Given the description of an element on the screen output the (x, y) to click on. 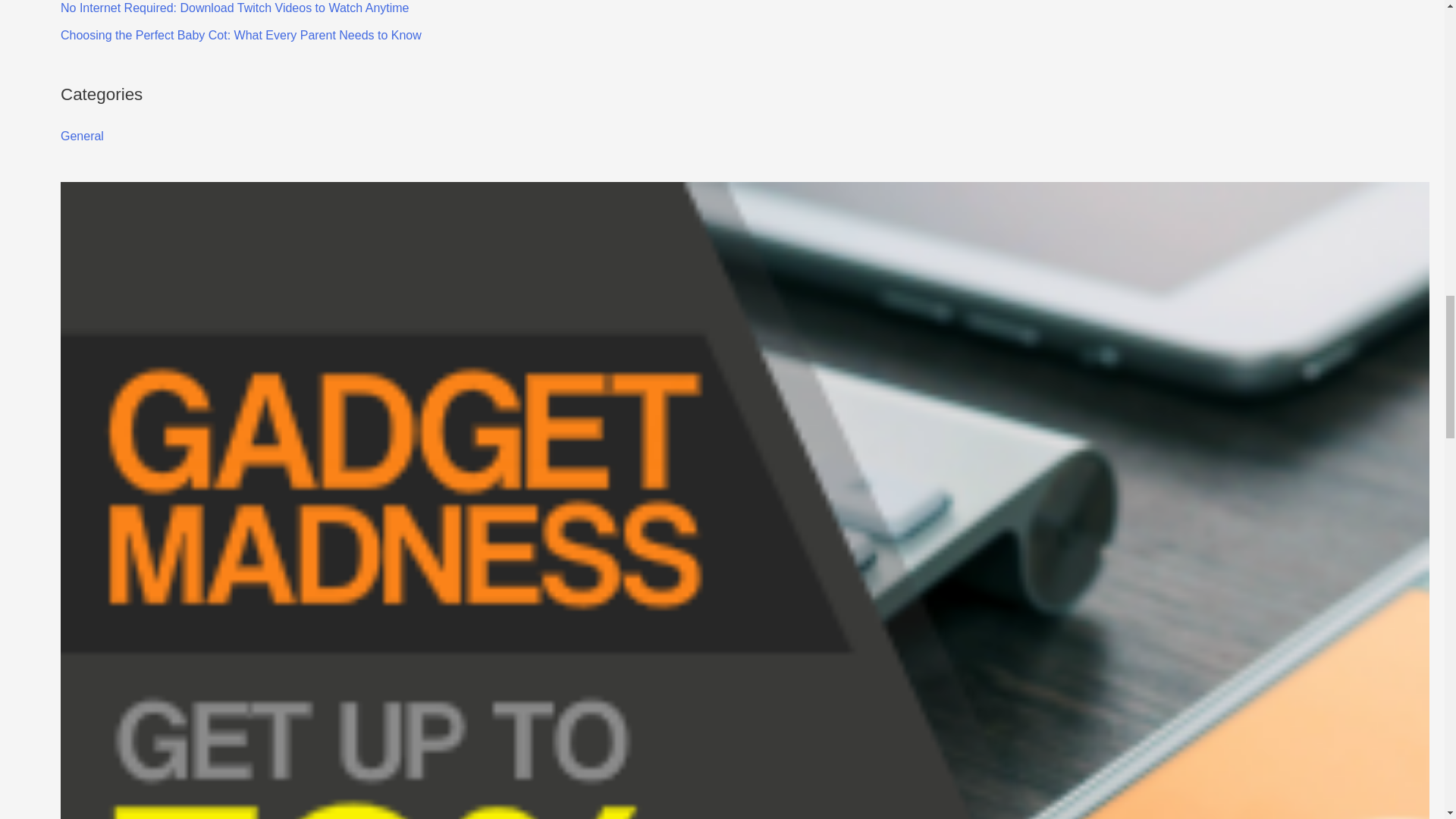
General (82, 135)
